Given the description of an element on the screen output the (x, y) to click on. 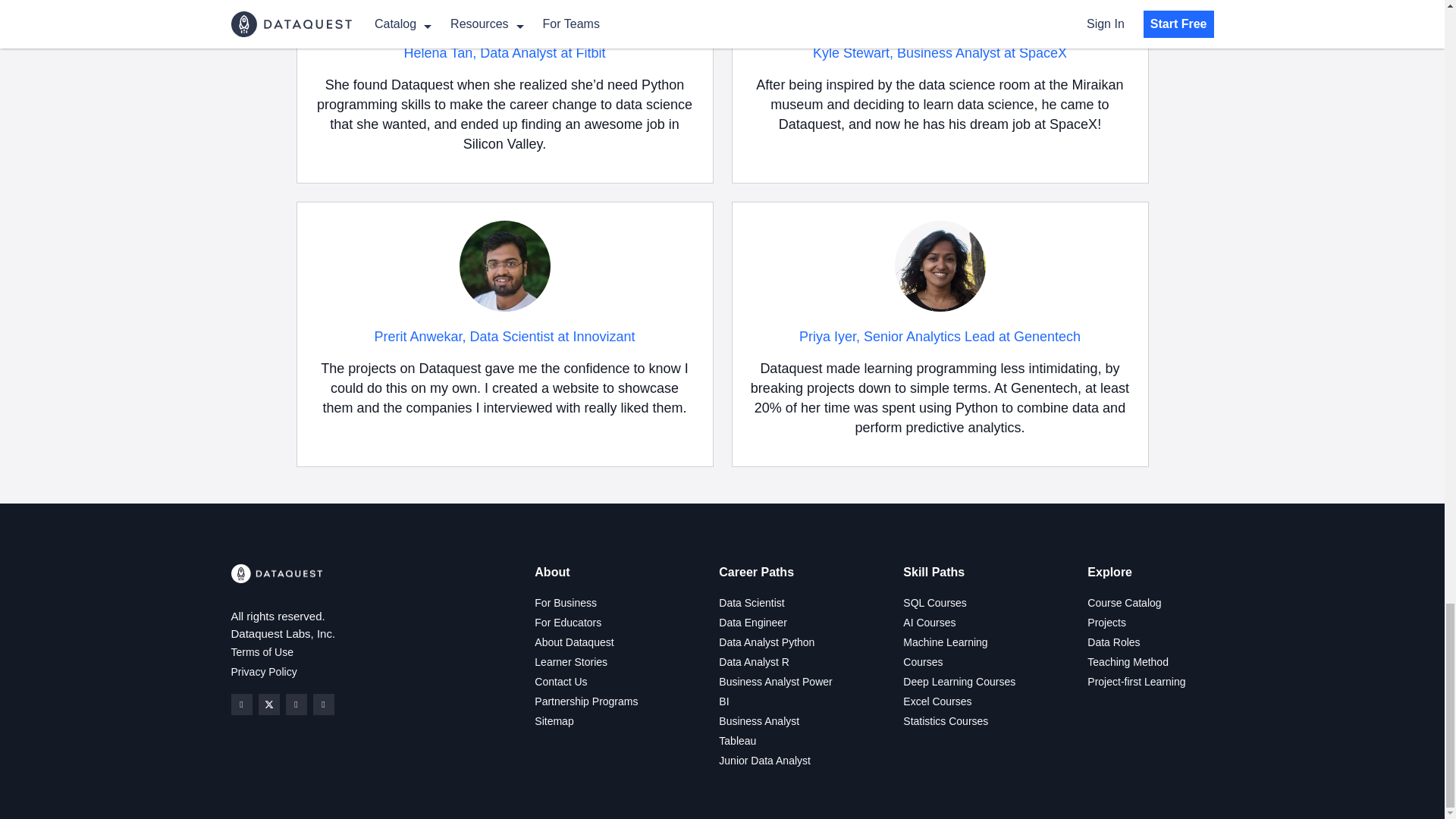
Privacy Policy (263, 671)
Helena Tan, Data Analyst at Fitbit (504, 52)
Helena (505, 13)
Terms of Use (261, 652)
White-Logo (275, 573)
Priya (940, 266)
Prerit Anwekar, Data Scientist at Innovizant (504, 336)
Kyle (940, 13)
Kyle Stewart, Business Analyst at SpaceX (939, 52)
Prerit (505, 266)
Priya Iyer, Senior Analytics Lead at Genentech (939, 336)
